Given the description of an element on the screen output the (x, y) to click on. 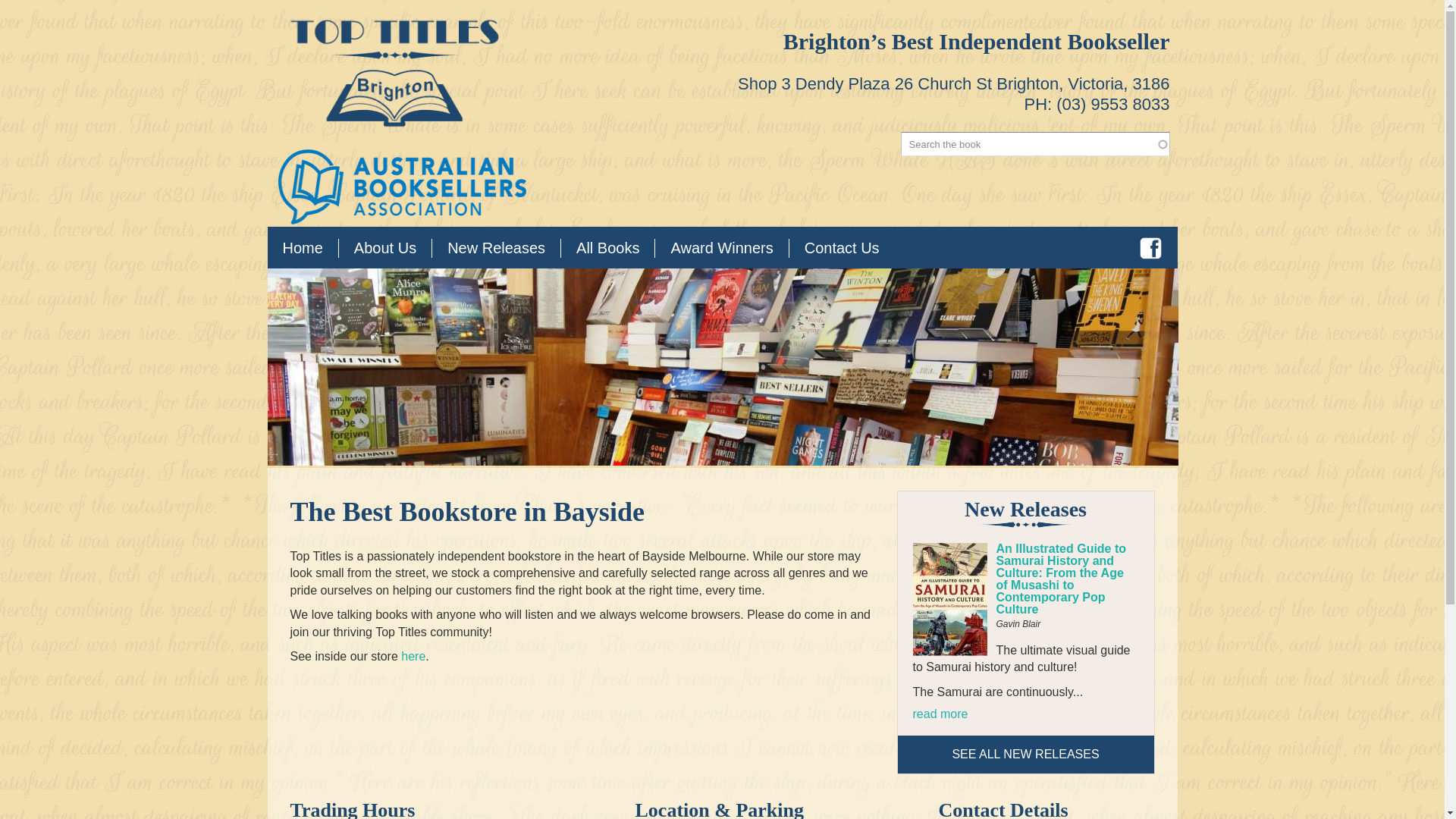
here (413, 656)
read more (940, 713)
Contact Us (842, 248)
All Books (606, 248)
Skip to main content (685, 1)
Award Winners (721, 248)
New Releases (496, 248)
Enter the terms you wish to search for. (1035, 143)
Home (301, 248)
SEE ALL NEW RELEASES (1025, 753)
About Us (384, 248)
